Given the description of an element on the screen output the (x, y) to click on. 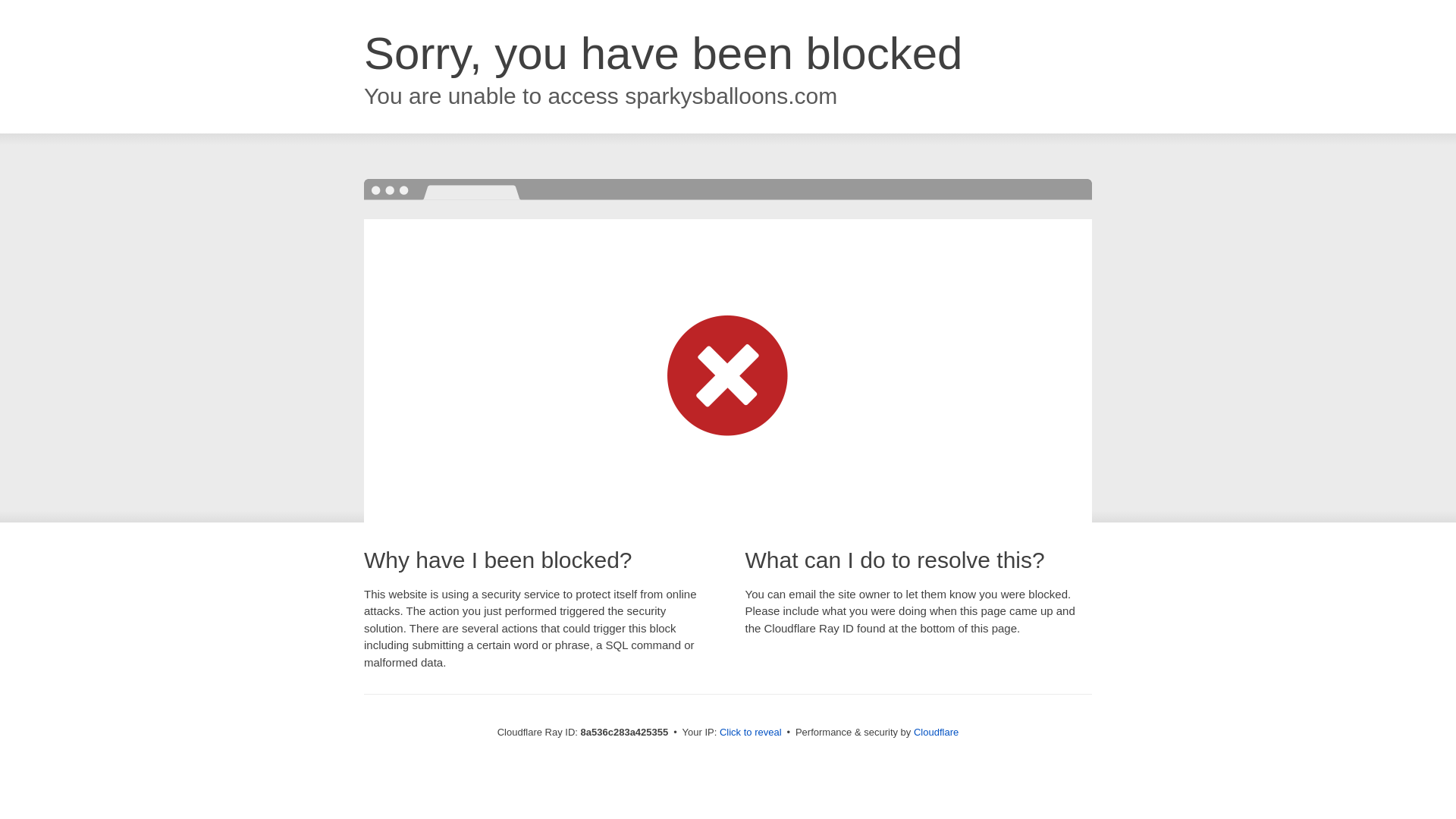
Cloudflare (936, 731)
Click to reveal (750, 732)
